Given the description of an element on the screen output the (x, y) to click on. 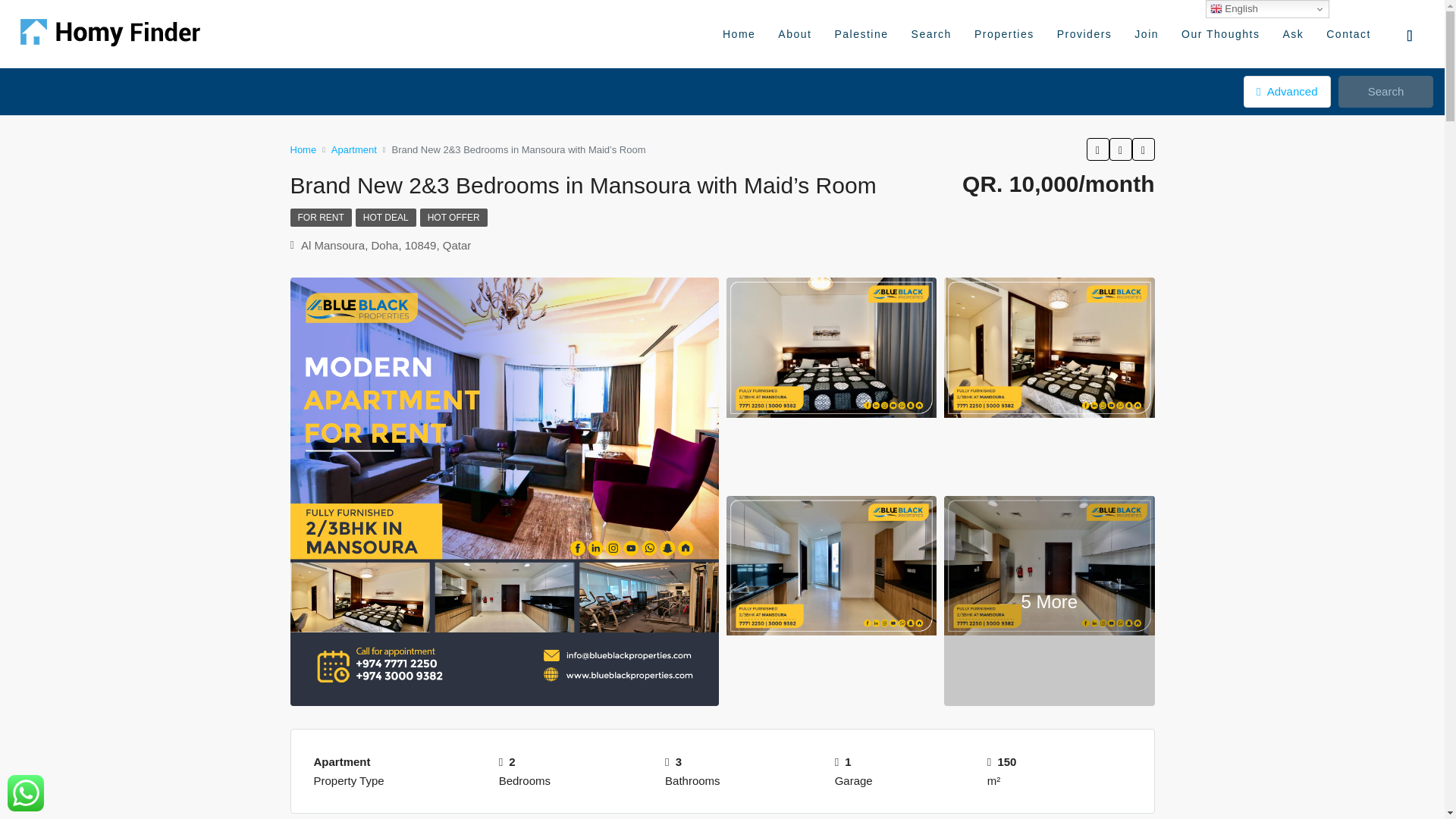
Advanced (1286, 91)
Palestine (860, 33)
Contact (1347, 33)
Our Thoughts (1220, 33)
Providers (1084, 33)
Search (930, 33)
Search (1385, 91)
Properties (1003, 33)
